Given the description of an element on the screen output the (x, y) to click on. 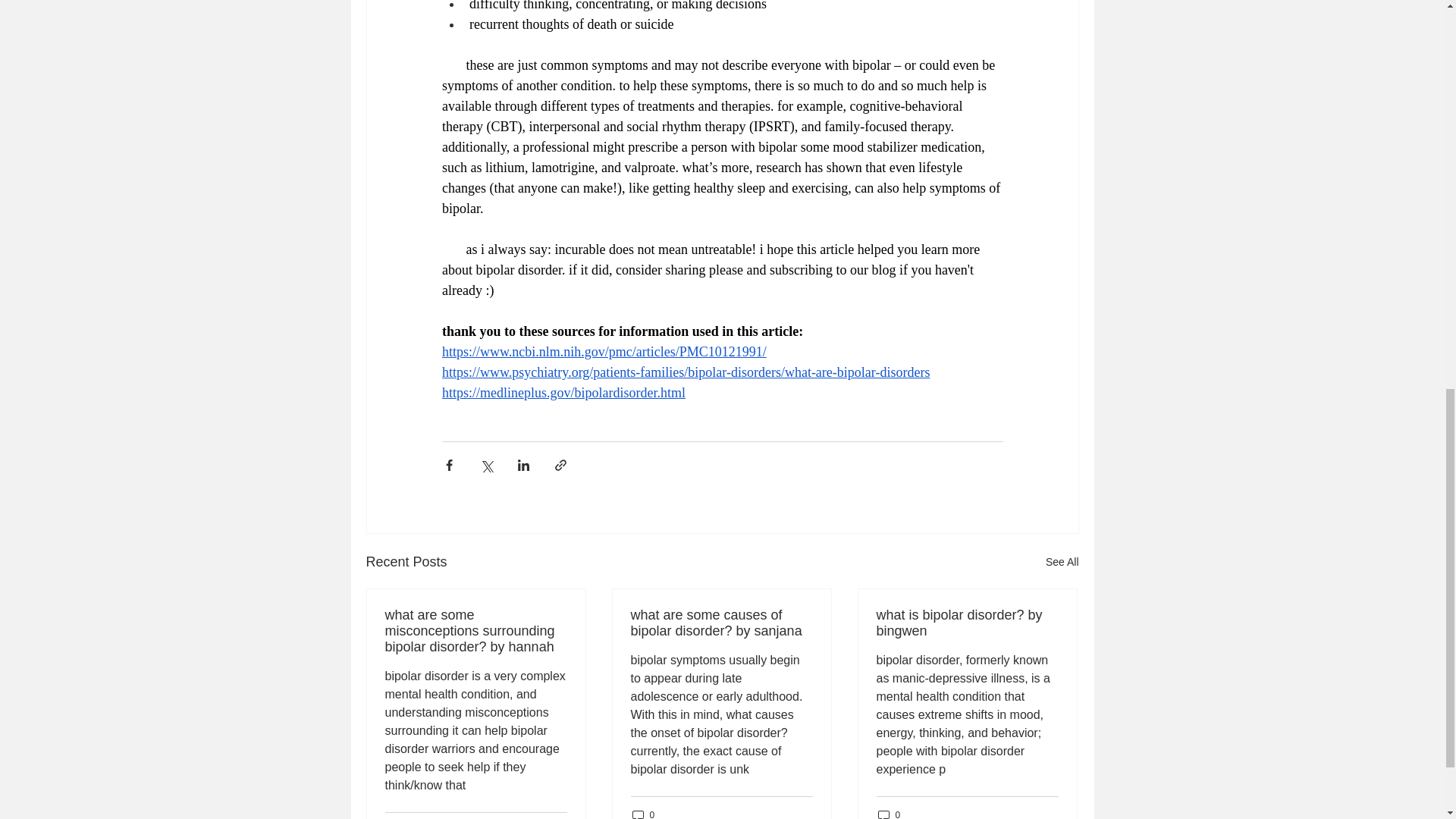
what is bipolar disorder? by bingwen (967, 623)
0 (889, 813)
0 (643, 813)
what are some causes of bipolar disorder? by sanjana (721, 623)
See All (1061, 562)
